Given the description of an element on the screen output the (x, y) to click on. 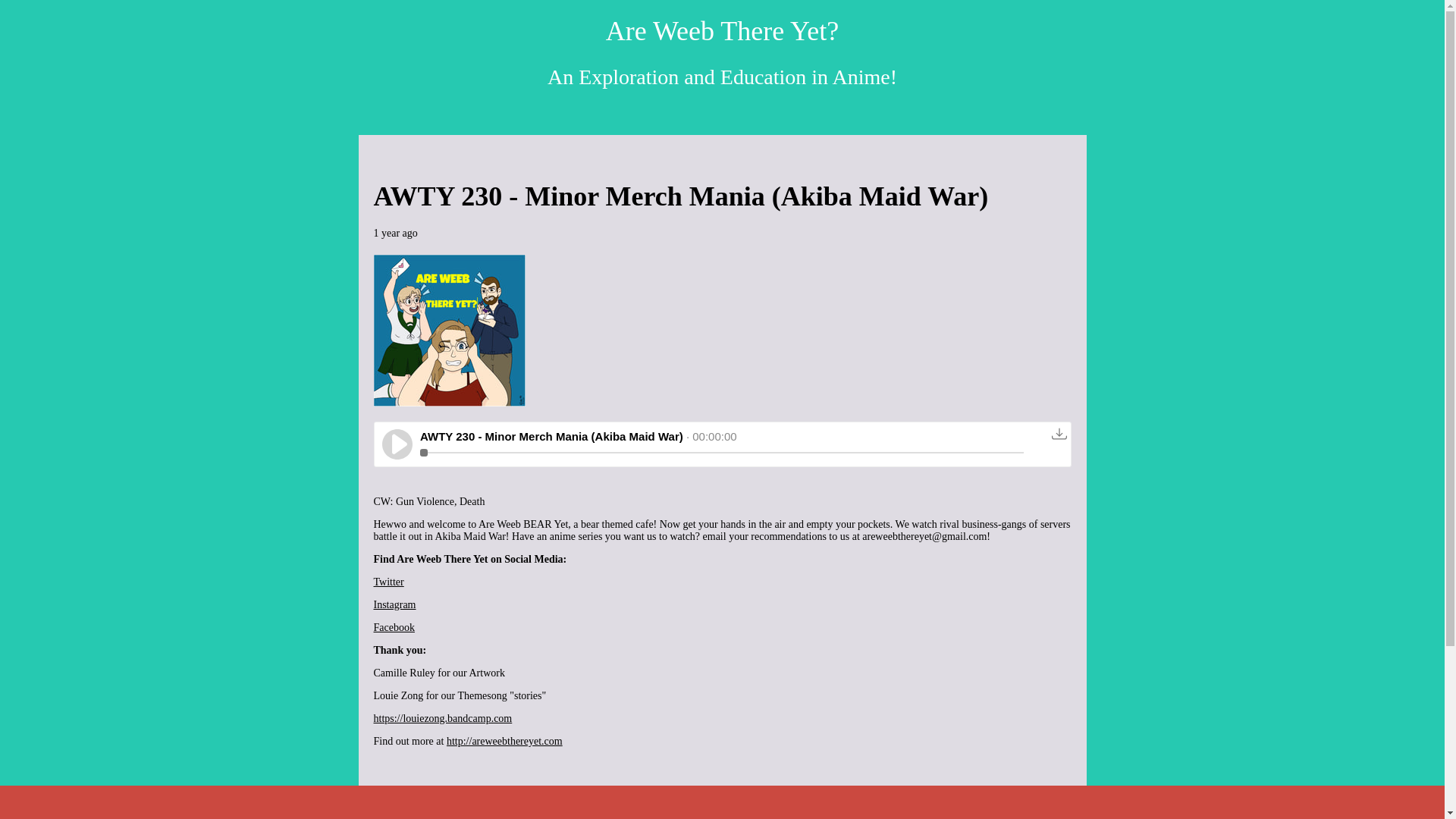
Are Weeb There Yet? (722, 30)
Facebook (392, 627)
Instagram (393, 604)
Twitter (387, 582)
